Given the description of an element on the screen output the (x, y) to click on. 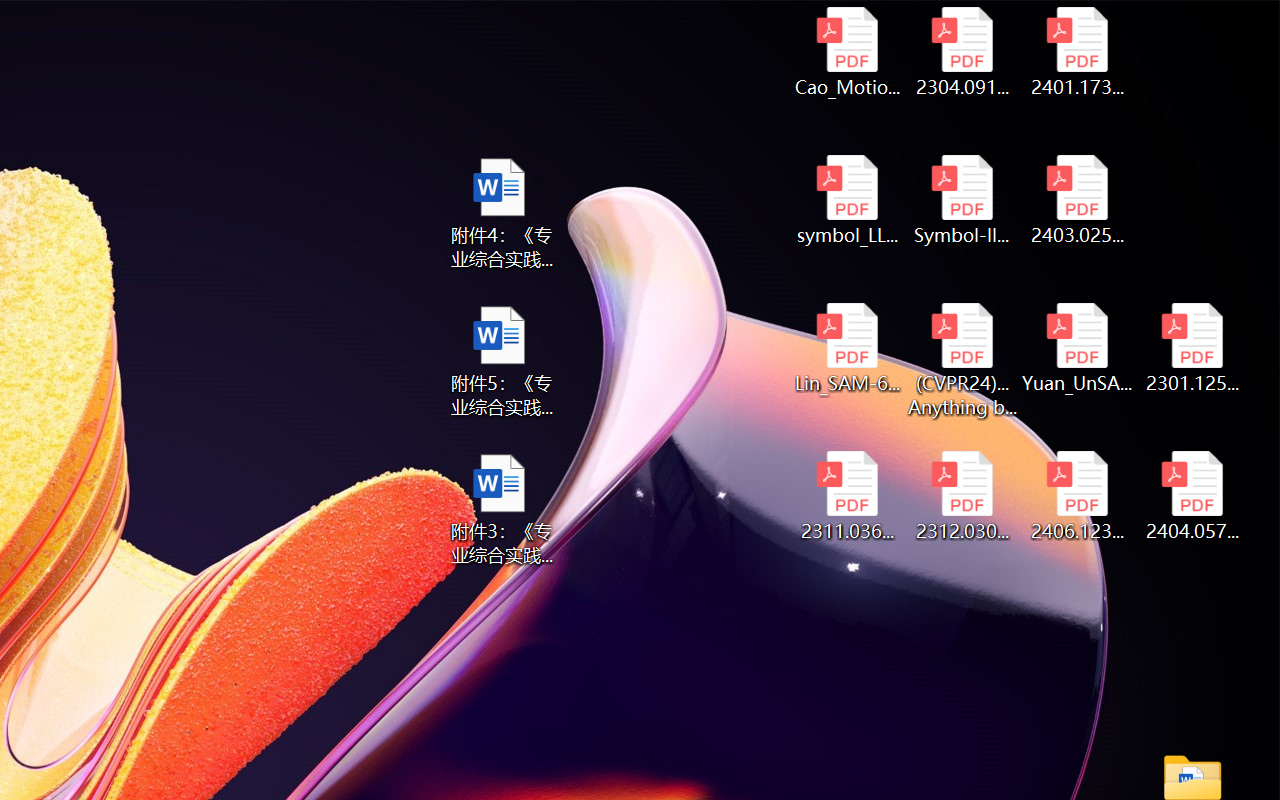
(CVPR24)Matching Anything by Segmenting Anything.pdf (962, 360)
symbol_LLM.pdf (846, 200)
2301.12597v3.pdf (1192, 348)
2406.12373v2.pdf (1077, 496)
Symbol-llm-v2.pdf (962, 200)
2312.03032v2.pdf (962, 496)
2401.17399v1.pdf (1077, 52)
2403.02502v1.pdf (1077, 200)
2404.05719v1.pdf (1192, 496)
2304.09121v3.pdf (962, 52)
